Given the description of an element on the screen output the (x, y) to click on. 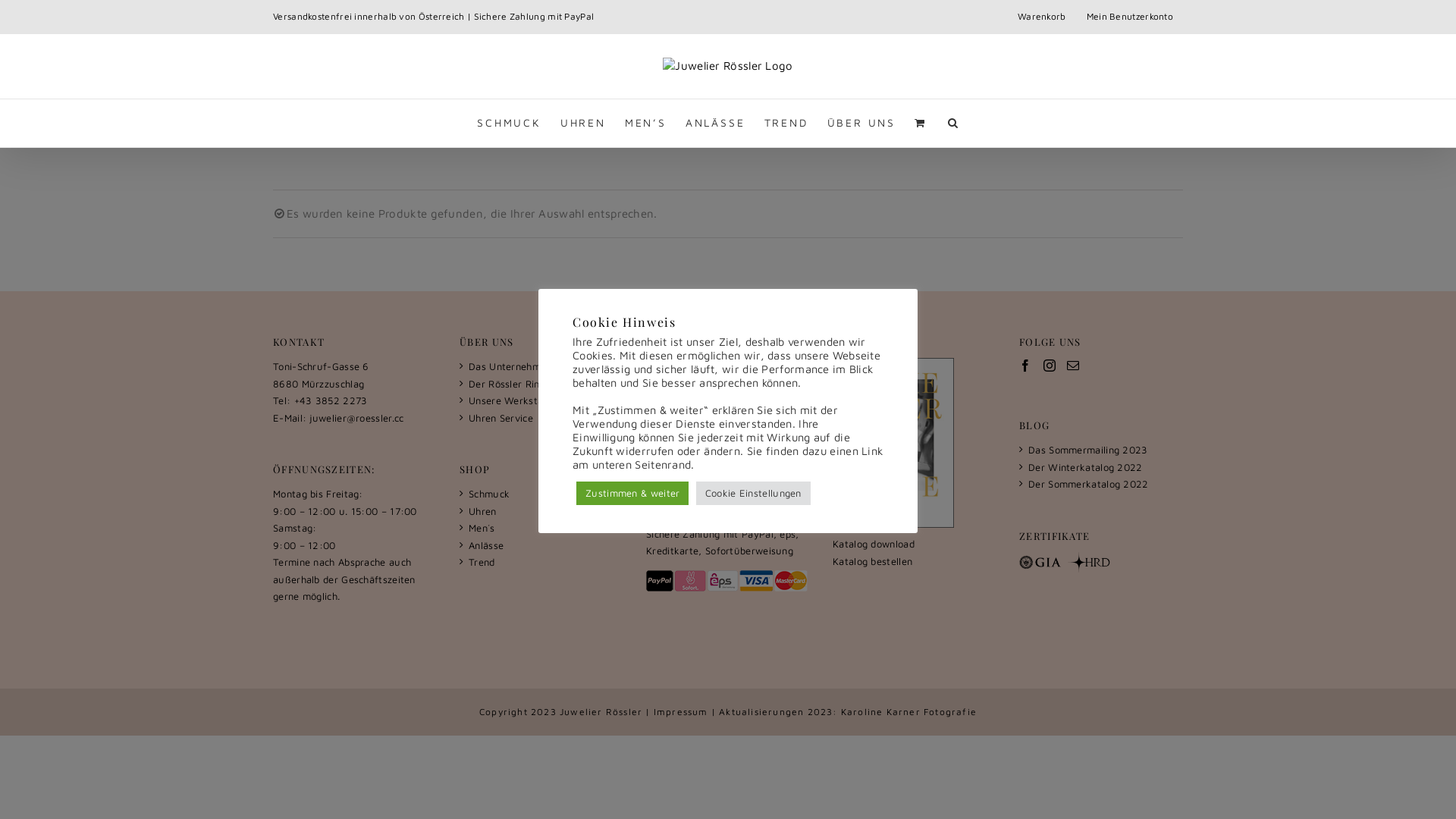
Schmuck Element type: text (545, 493)
Der Sommerkatalog 2022 Element type: text (1105, 483)
Unsere Werkstatt Element type: text (545, 400)
Cookie Einstellungen Element type: text (753, 493)
Trend Element type: text (545, 562)
Anmelden Element type: text (1160, 144)
Katalog bestellen Element type: text (872, 561)
Uhren Element type: text (545, 510)
TREND Element type: text (786, 122)
AGB Element type: text (732, 400)
Katalog download Element type: text (873, 543)
Das Unternehmen Element type: text (545, 366)
Warenkorb Element type: text (1041, 16)
SCHMUCK Element type: text (508, 122)
Datenschutz Element type: text (732, 434)
Uhren Service Element type: text (545, 417)
Der Winterkatalog 2022 Element type: text (1105, 466)
Mein Benutzerkonto Element type: text (1129, 16)
Katalog 2022 Element type: hover (892, 442)
juwelier@roessler.cc Element type: text (356, 417)
Impressum Element type: text (680, 710)
Kontakt Element type: text (732, 366)
Suche Element type: hover (953, 122)
Das Sommermailing 2023 Element type: text (1105, 449)
UHREN Element type: text (582, 122)
Zustimmen & weiter Element type: text (632, 493)
Impressum Element type: text (732, 417)
